Given the description of an element on the screen output the (x, y) to click on. 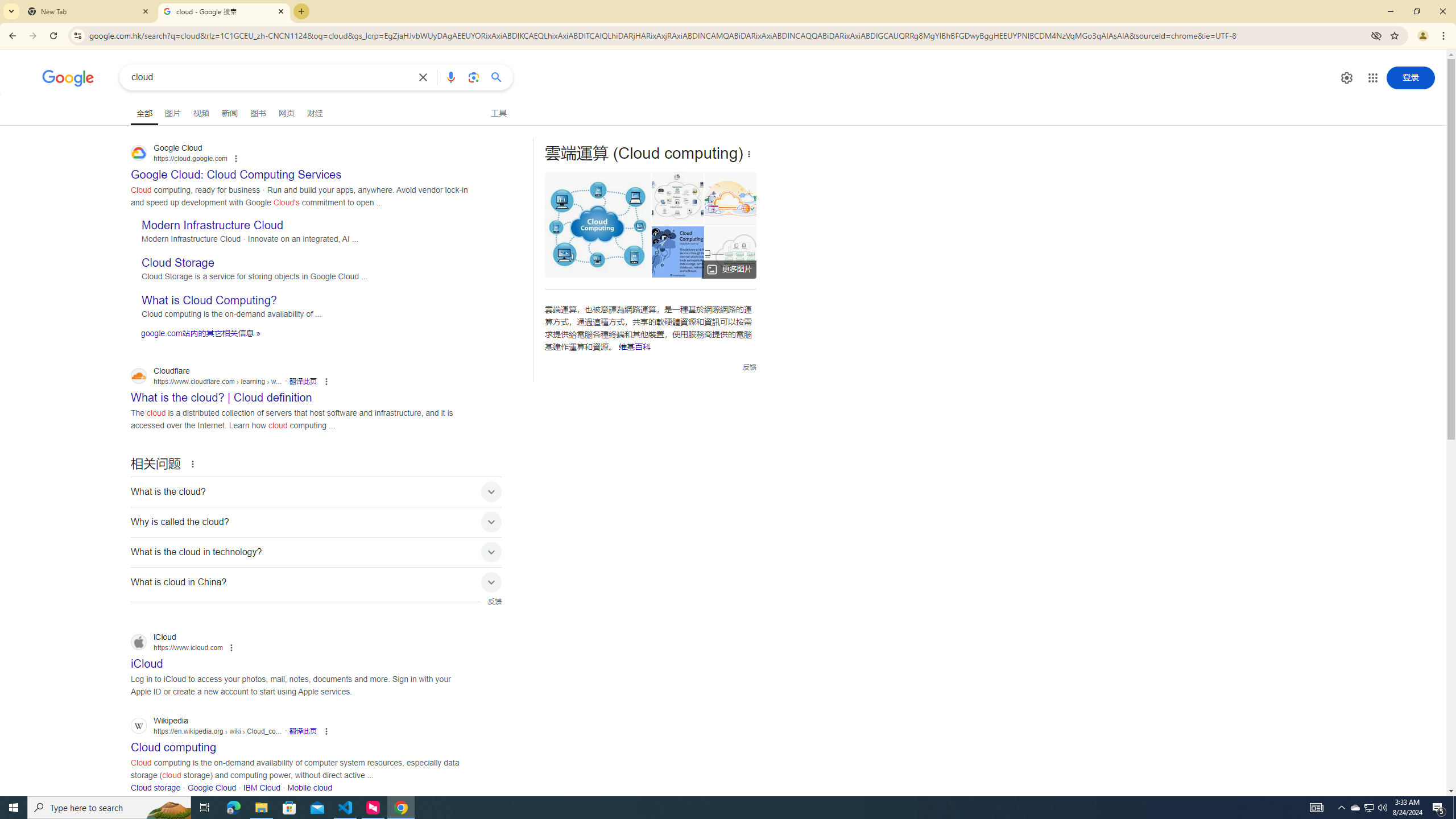
Modern Infrastructure Cloud (212, 224)
Google Cloud (211, 787)
What is cloud in China? (316, 582)
IBM Cloud (262, 787)
